Given the description of an element on the screen output the (x, y) to click on. 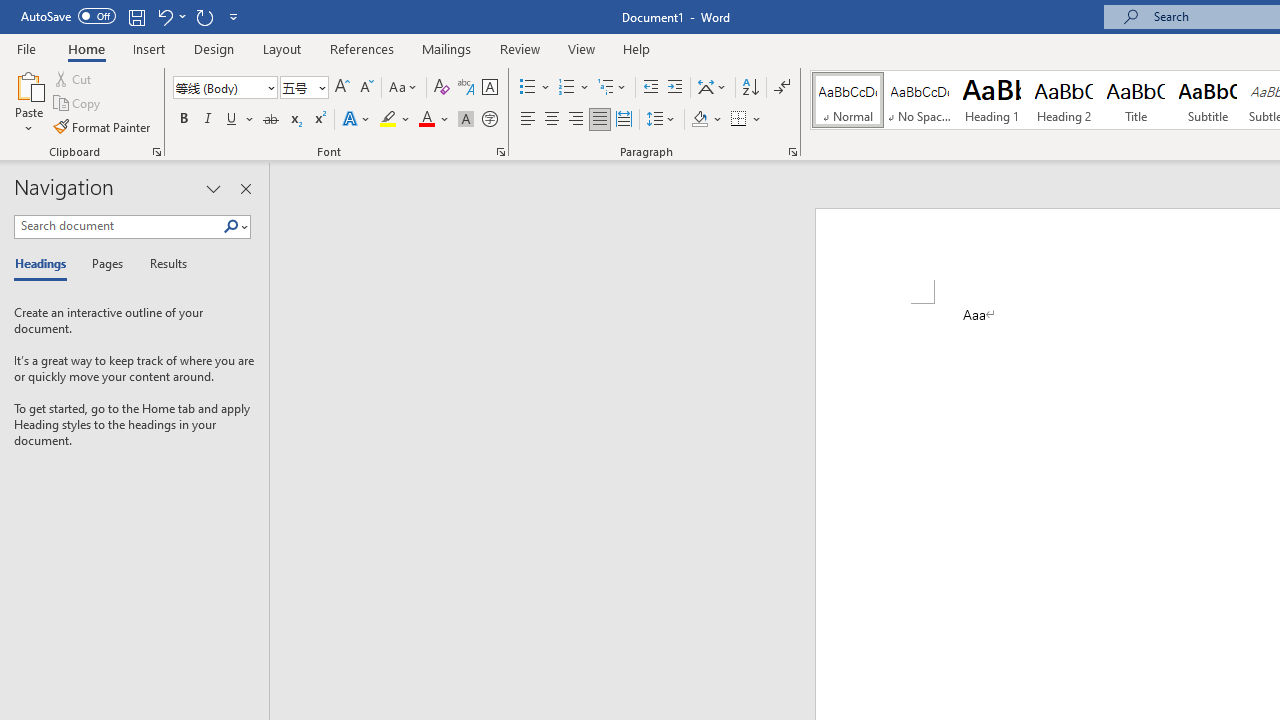
Subscript (294, 119)
Office Clipboard... (156, 151)
Shading (706, 119)
Heading 1 (991, 100)
Open (320, 87)
Align Right (575, 119)
Show/Hide Editing Marks (781, 87)
Text Highlight Color (395, 119)
Cut (73, 78)
